Given the description of an element on the screen output the (x, y) to click on. 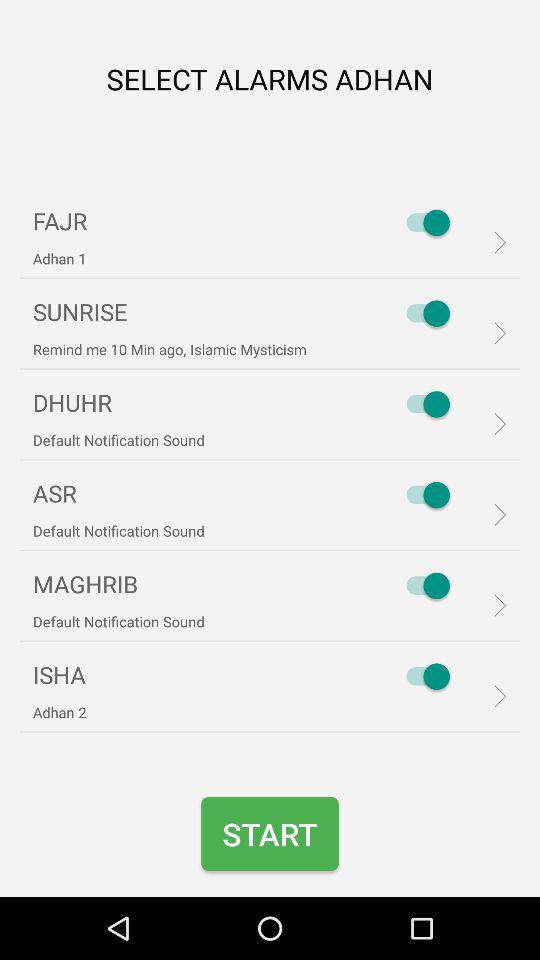
toggle asr (423, 495)
